Given the description of an element on the screen output the (x, y) to click on. 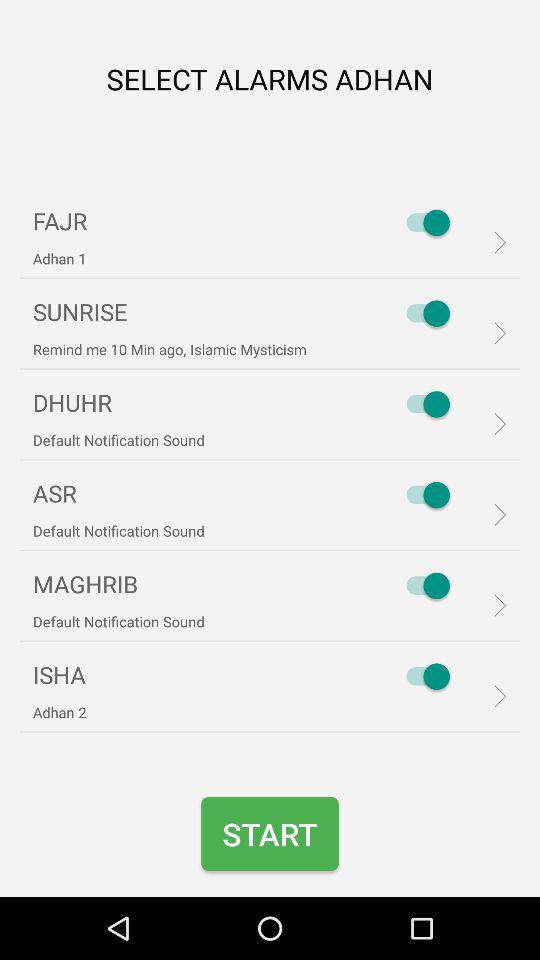
toggle asr (423, 495)
